Given the description of an element on the screen output the (x, y) to click on. 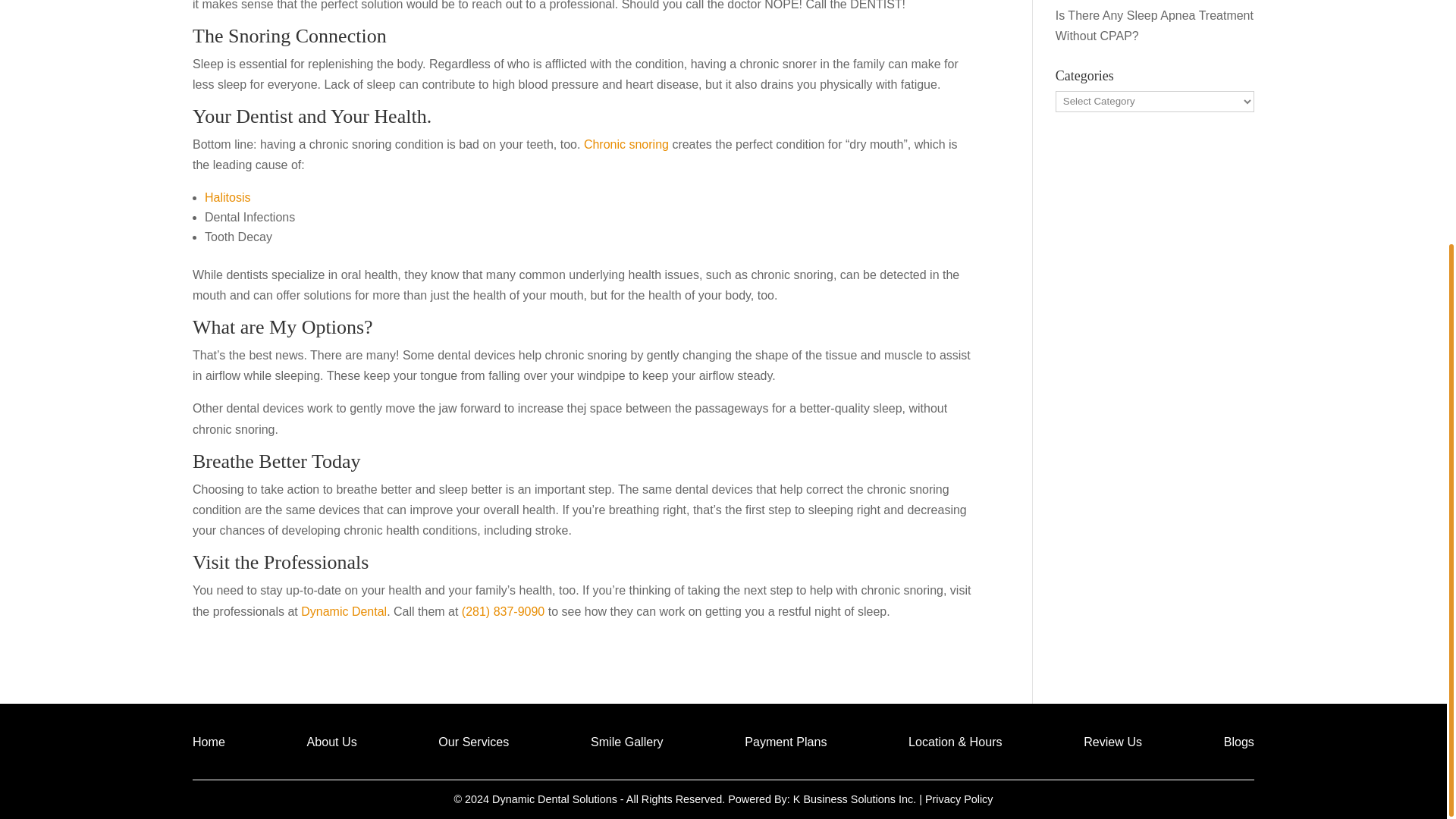
Is There Any Sleep Apnea Treatment Without CPAP? (1154, 25)
Our Services (473, 744)
Halitosis (227, 196)
Chronic snoring (625, 144)
Review Us (1112, 744)
K Business Solutions Inc. (854, 799)
Home (208, 744)
Payment Plans (785, 744)
Blogs (1238, 744)
Smile Gallery (627, 744)
About Us (331, 744)
Dynamic Dental (344, 611)
